Given the description of an element on the screen output the (x, y) to click on. 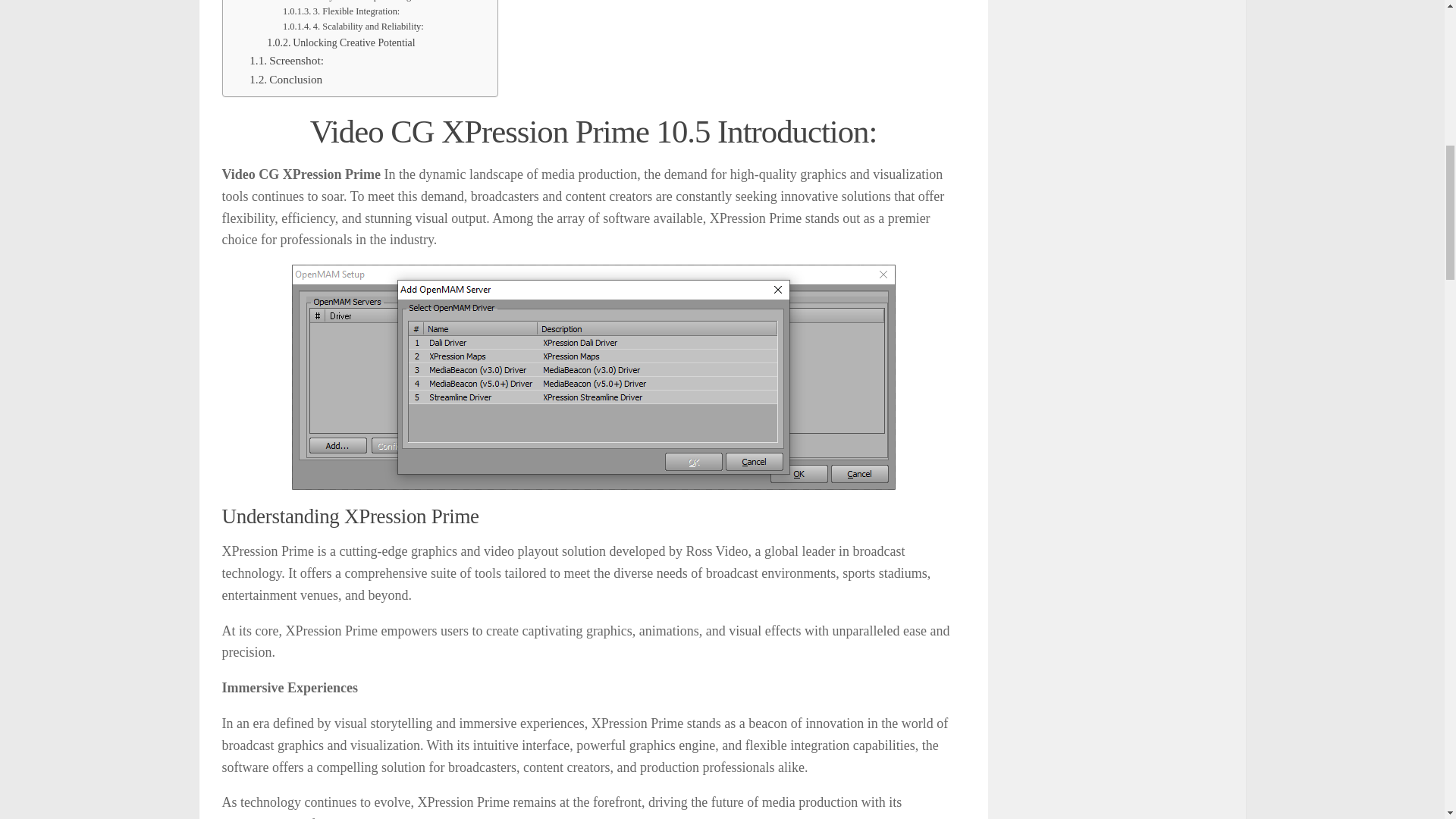
4. Scalability and Reliability: (352, 27)
Unlocking Creative Potential (340, 43)
3. Flexible Integration: (340, 11)
Conclusion (284, 79)
2. Dynamic Graphics Engine: (353, 2)
Screenshot: (285, 60)
